Given the description of an element on the screen output the (x, y) to click on. 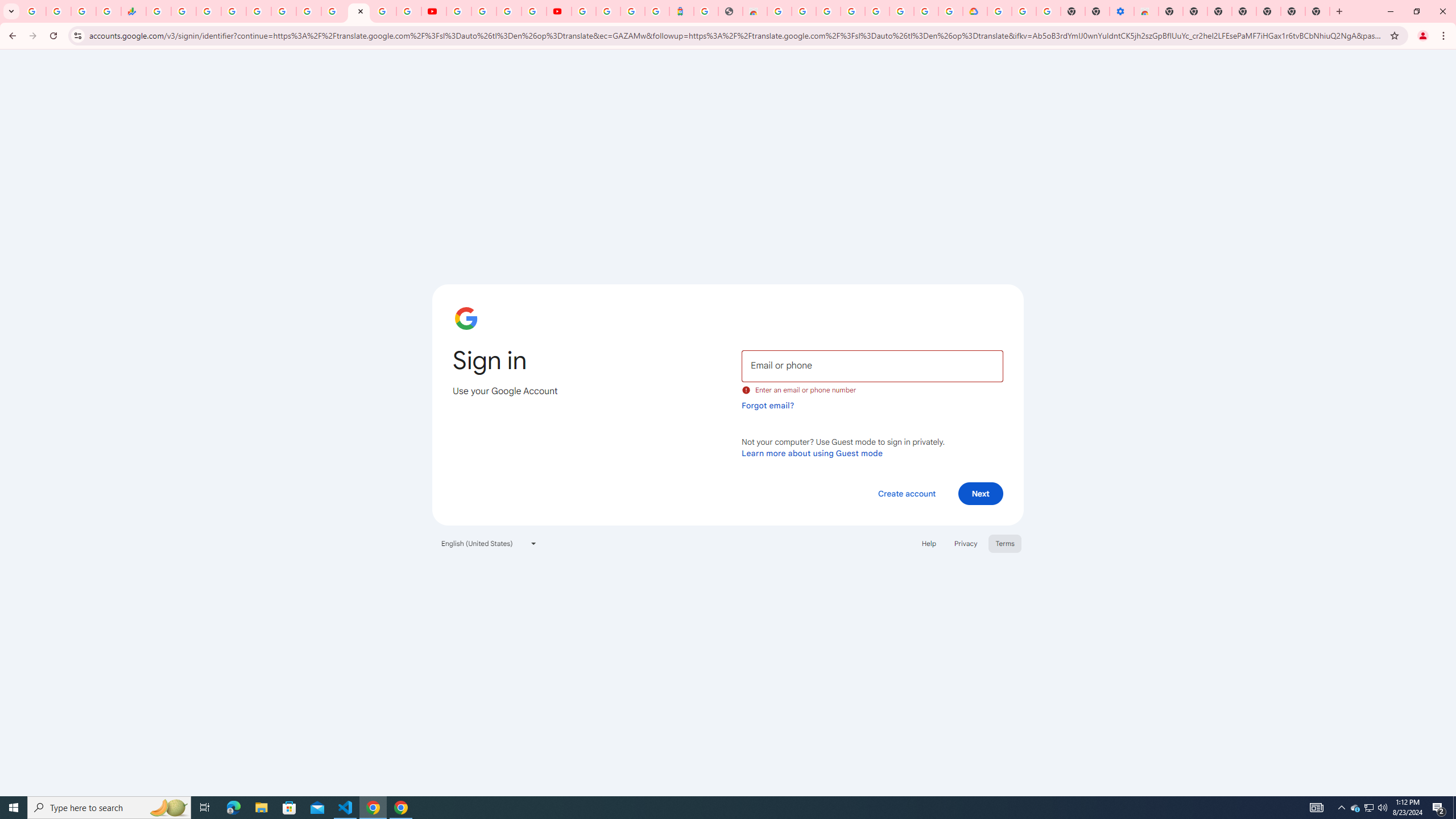
Next (980, 493)
Privacy Checkup (408, 11)
Turn cookies on or off - Computer - Google Account Help (1047, 11)
Sign in - Google Accounts (358, 11)
Android TV Policies and Guidelines - Transparency Center (308, 11)
Settings - Accessibility (1121, 11)
English (United States) (489, 542)
